Given the description of an element on the screen output the (x, y) to click on. 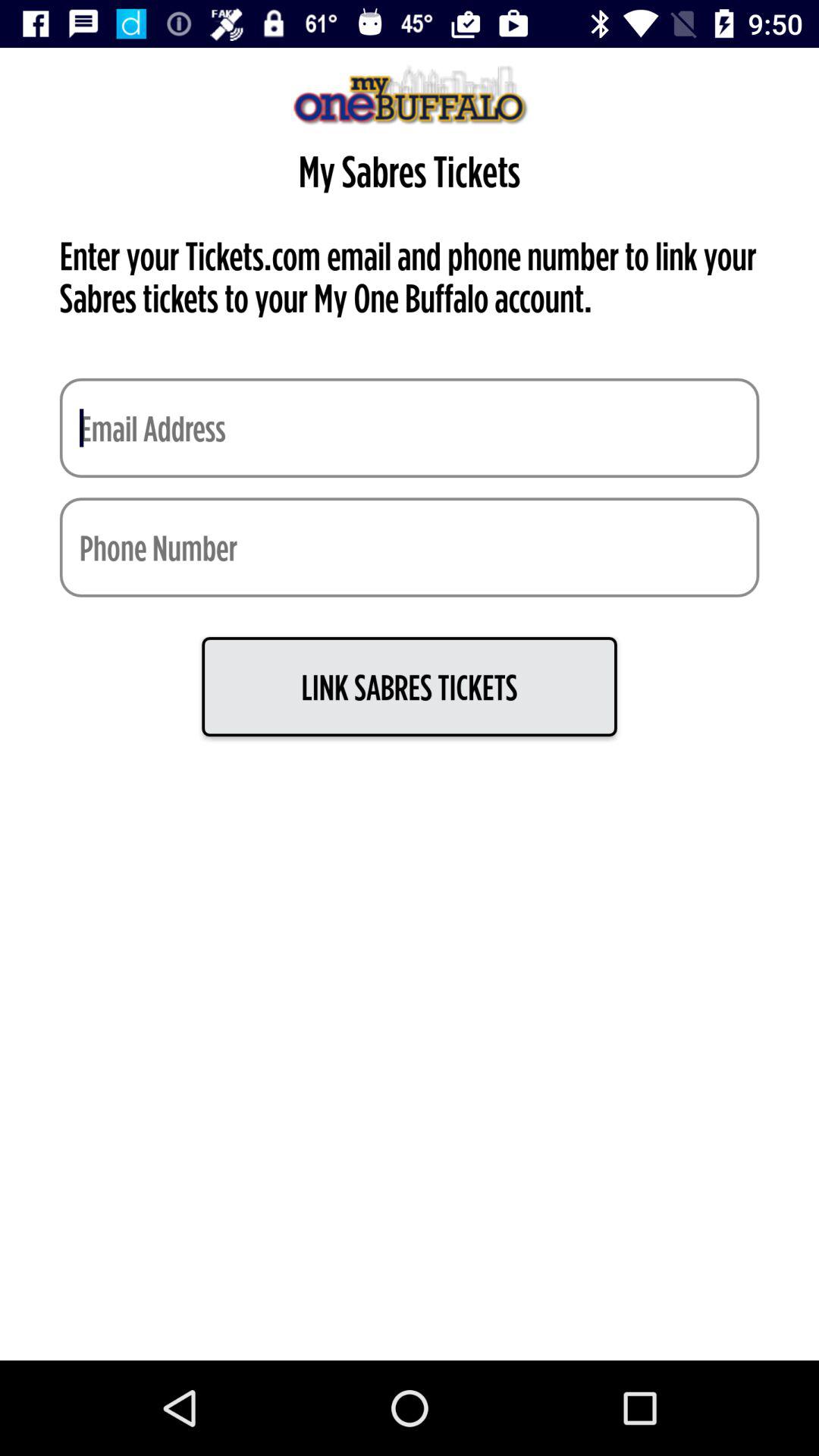
put email (409, 427)
